Given the description of an element on the screen output the (x, y) to click on. 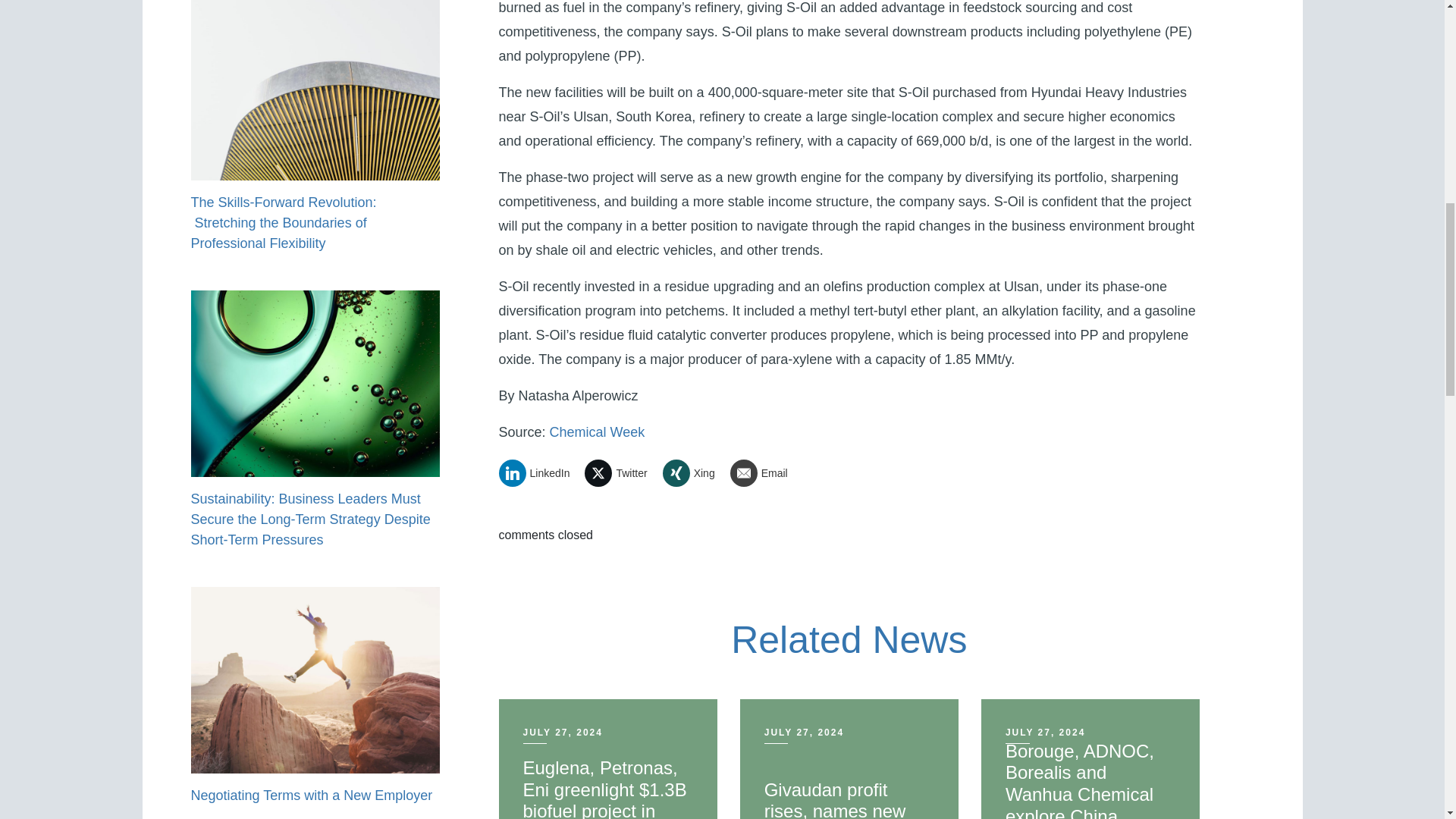
Share on Twitter (621, 472)
Share on LinkedIn (539, 472)
Negotiating Terms with a New Employer (311, 795)
Chemical Week (597, 432)
Share on Xing (694, 472)
LinkedIn (539, 472)
Share on Email (764, 472)
